Given the description of an element on the screen output the (x, y) to click on. 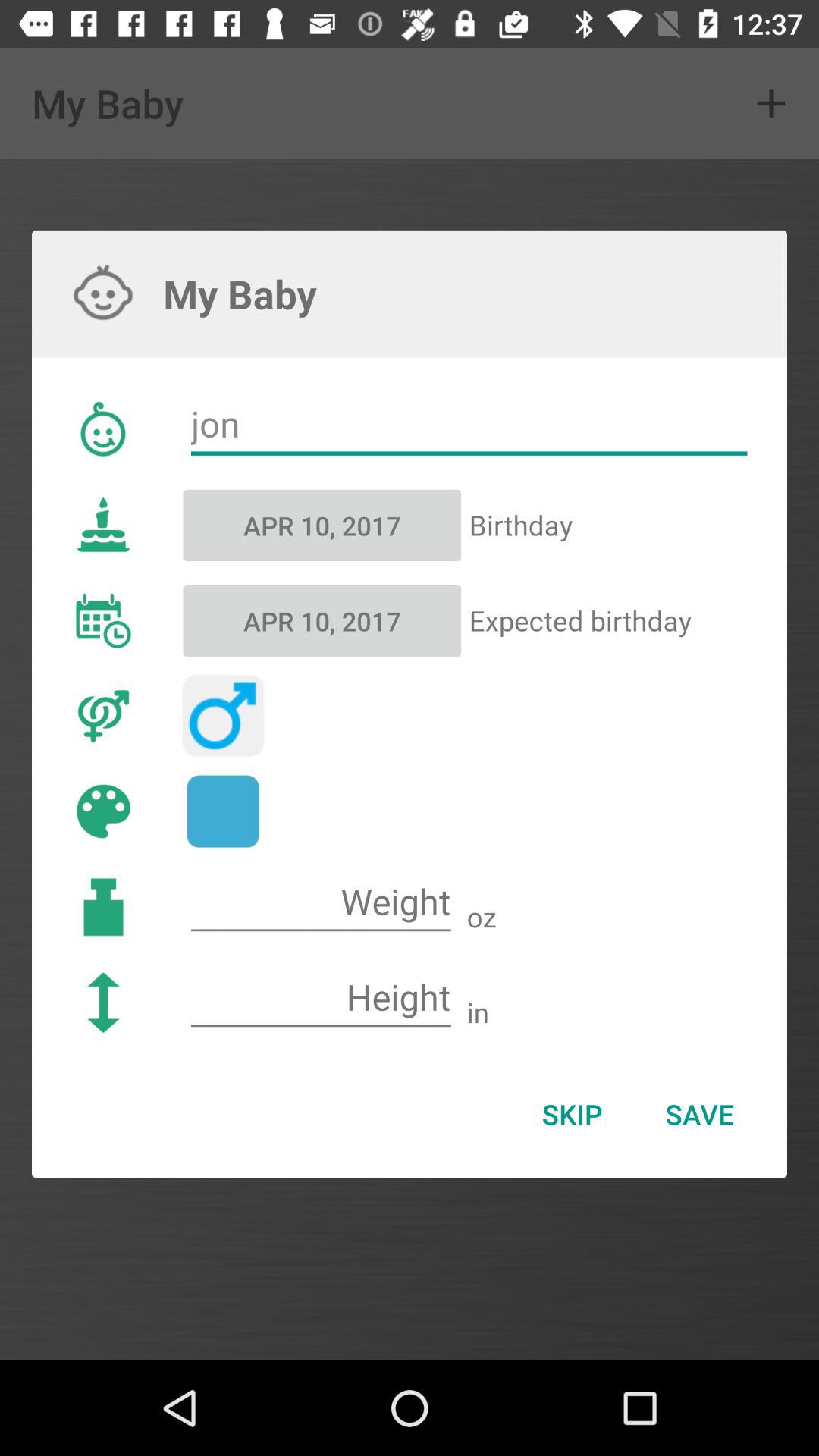
press skip (571, 1113)
